Given the description of an element on the screen output the (x, y) to click on. 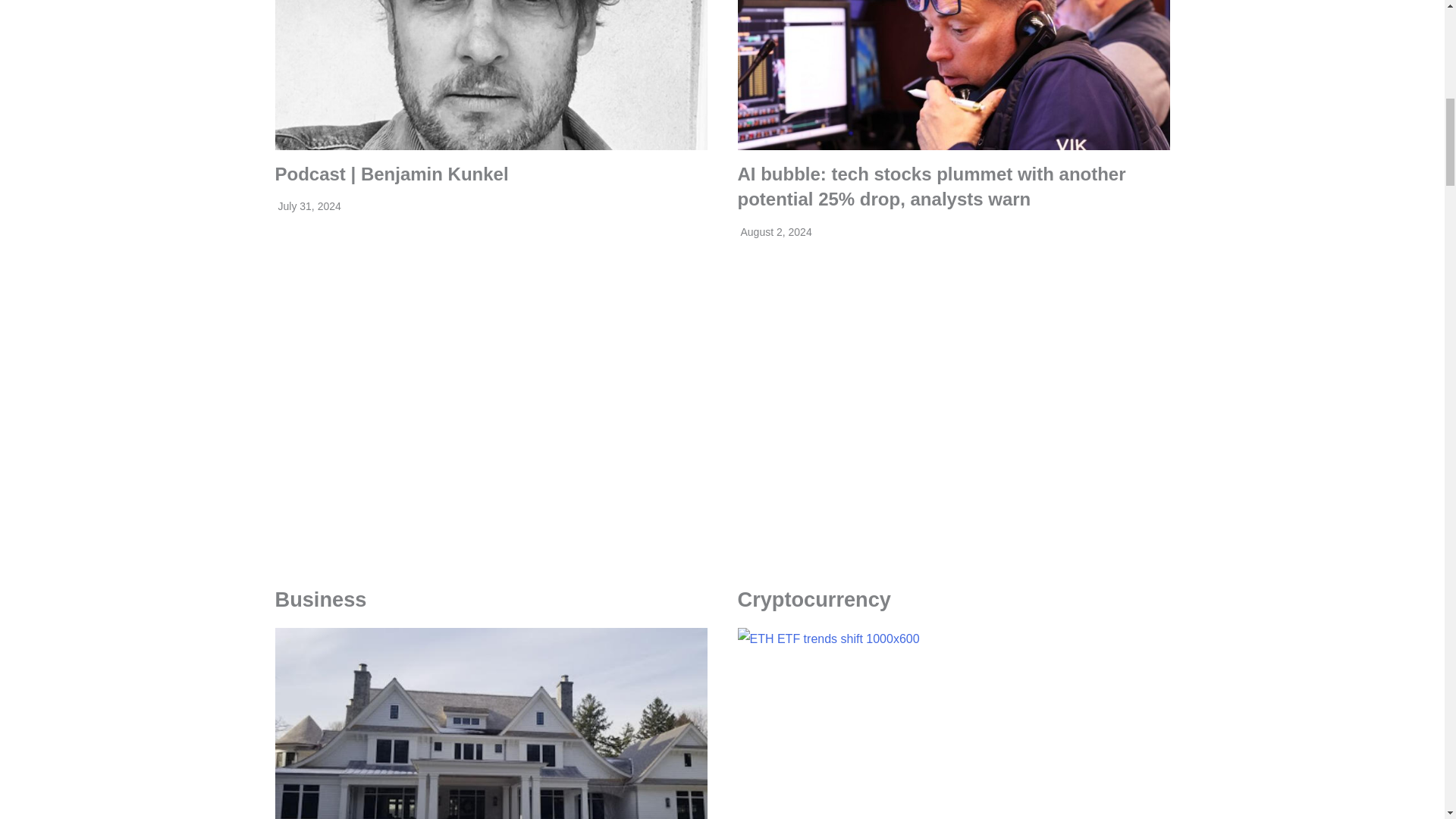
Advertisement (952, 381)
Advertisement (490, 355)
